Given the description of an element on the screen output the (x, y) to click on. 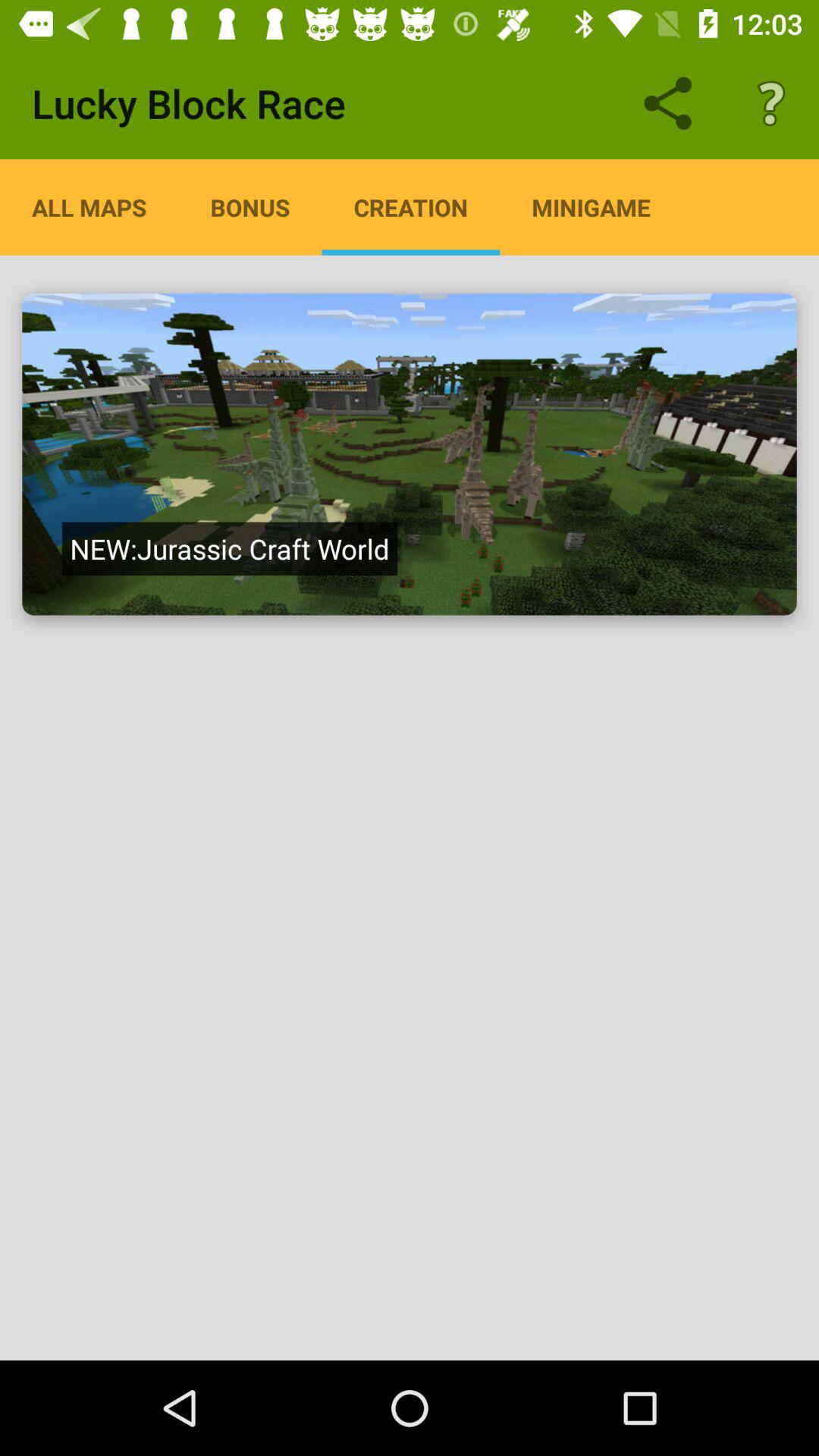
choose the app next to creation (249, 207)
